Given the description of an element on the screen output the (x, y) to click on. 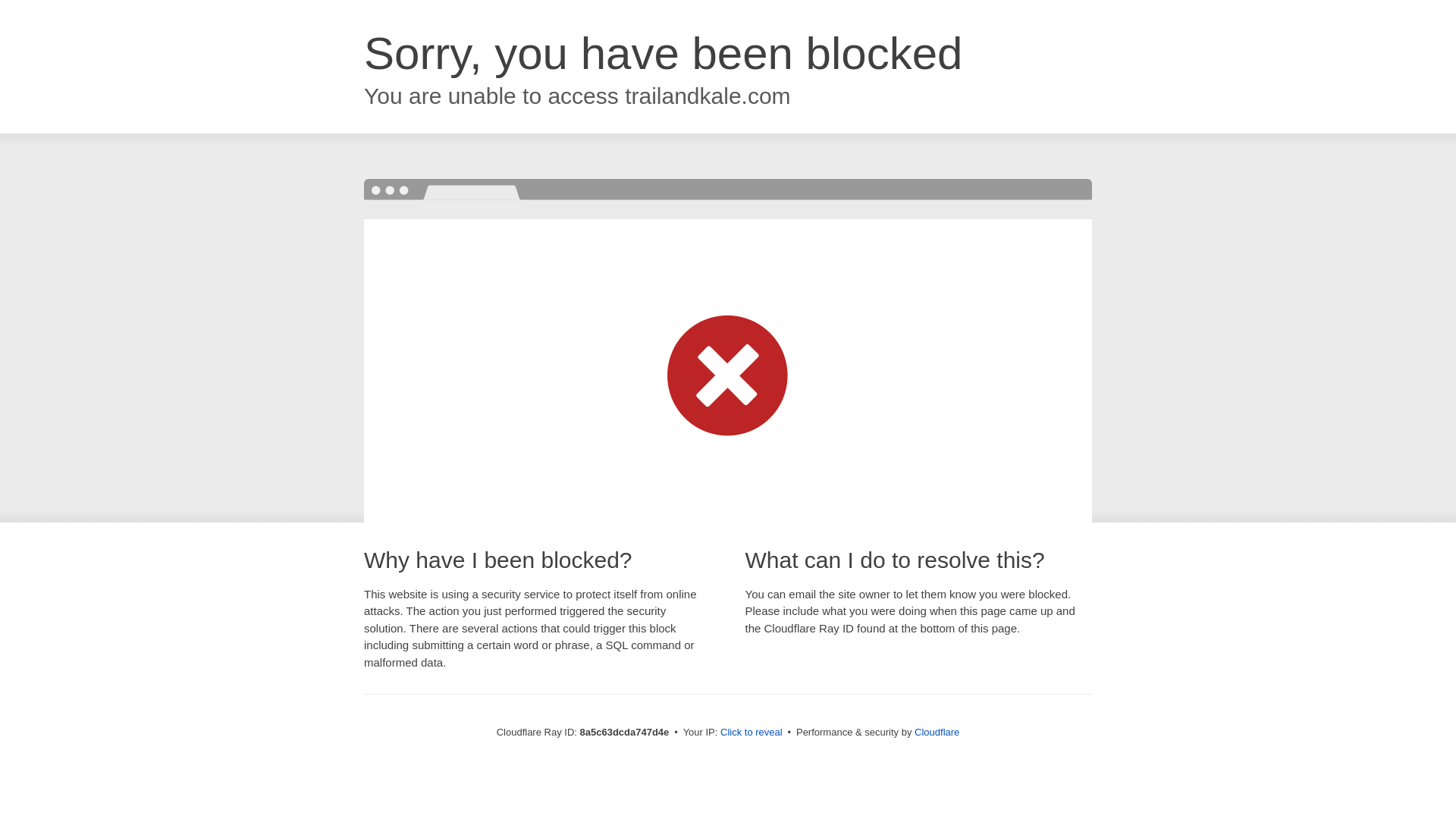
Click to reveal (751, 732)
Cloudflare (936, 731)
